Given the description of an element on the screen output the (x, y) to click on. 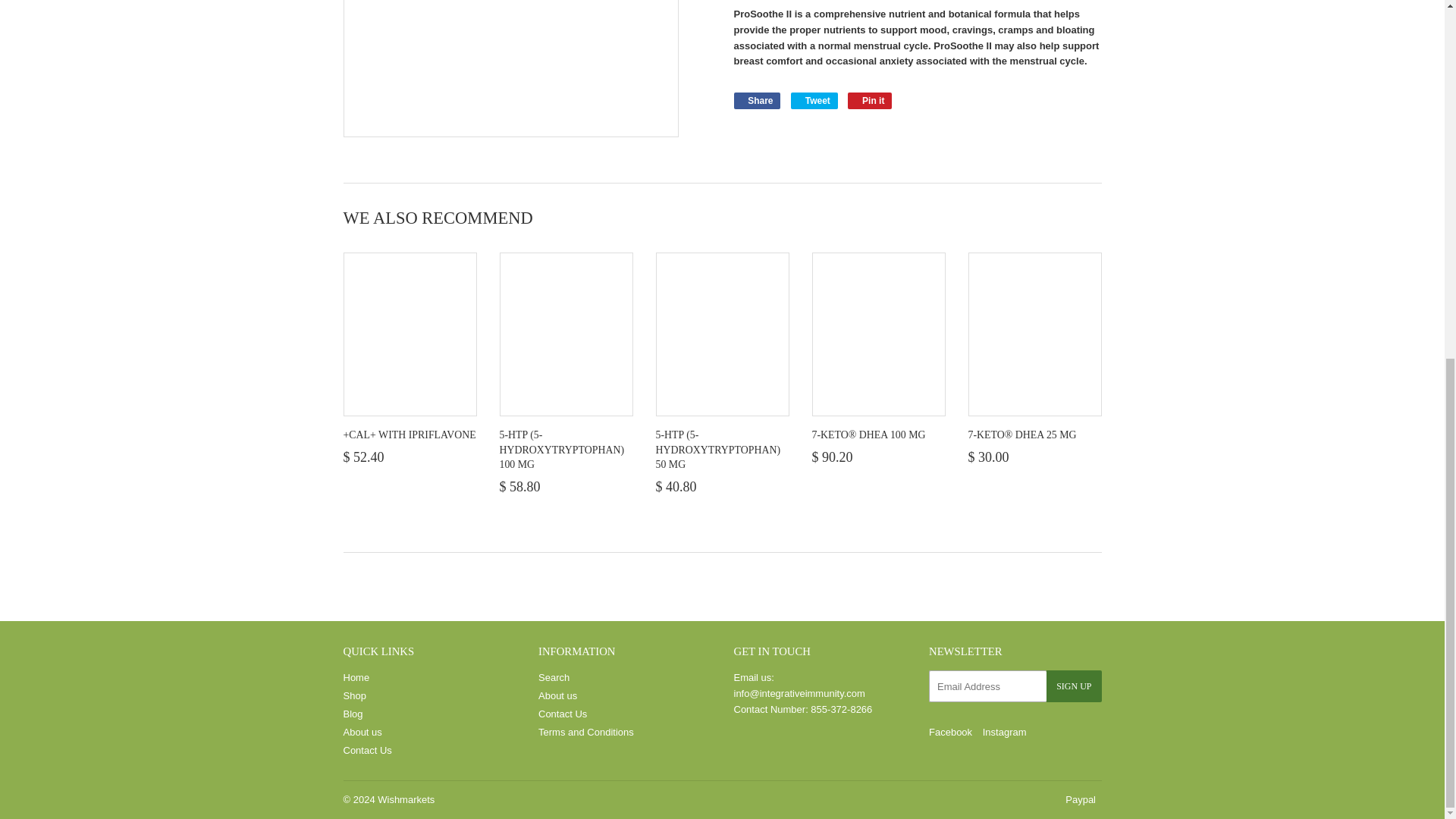
Wishmarkets on Facebook (950, 731)
Share on Facebook (756, 100)
Tweet on Twitter (814, 100)
Pin on Pinterest (869, 100)
Wishmarkets on Instagram (1004, 731)
